Given the description of an element on the screen output the (x, y) to click on. 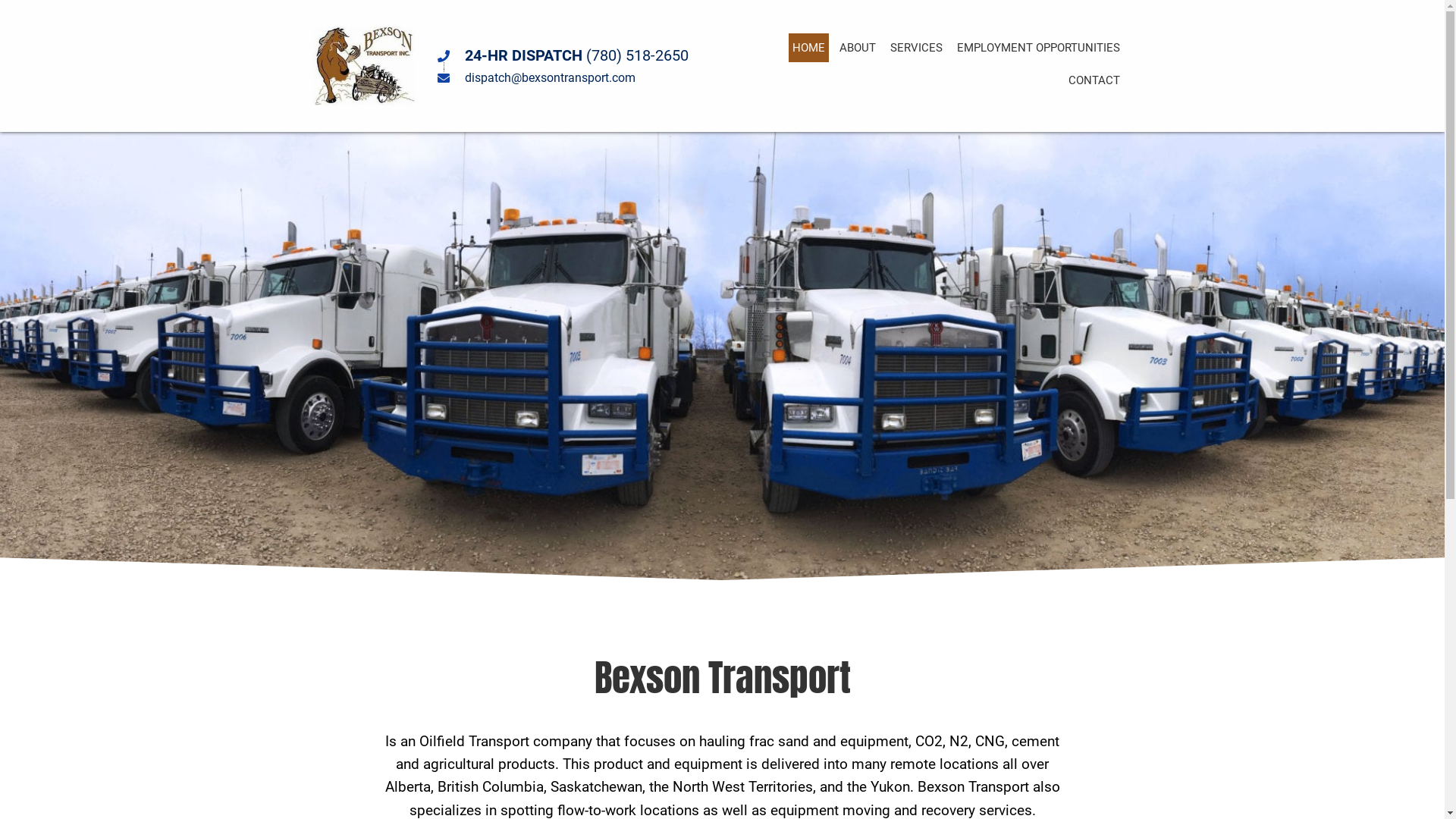
CONTACT Element type: text (1093, 79)
SERVICES Element type: text (916, 47)
EMPLOYMENT OPPORTUNITIES Element type: text (1038, 47)
HOME Element type: text (808, 47)
ABOUT Element type: text (857, 47)
